Given the description of an element on the screen output the (x, y) to click on. 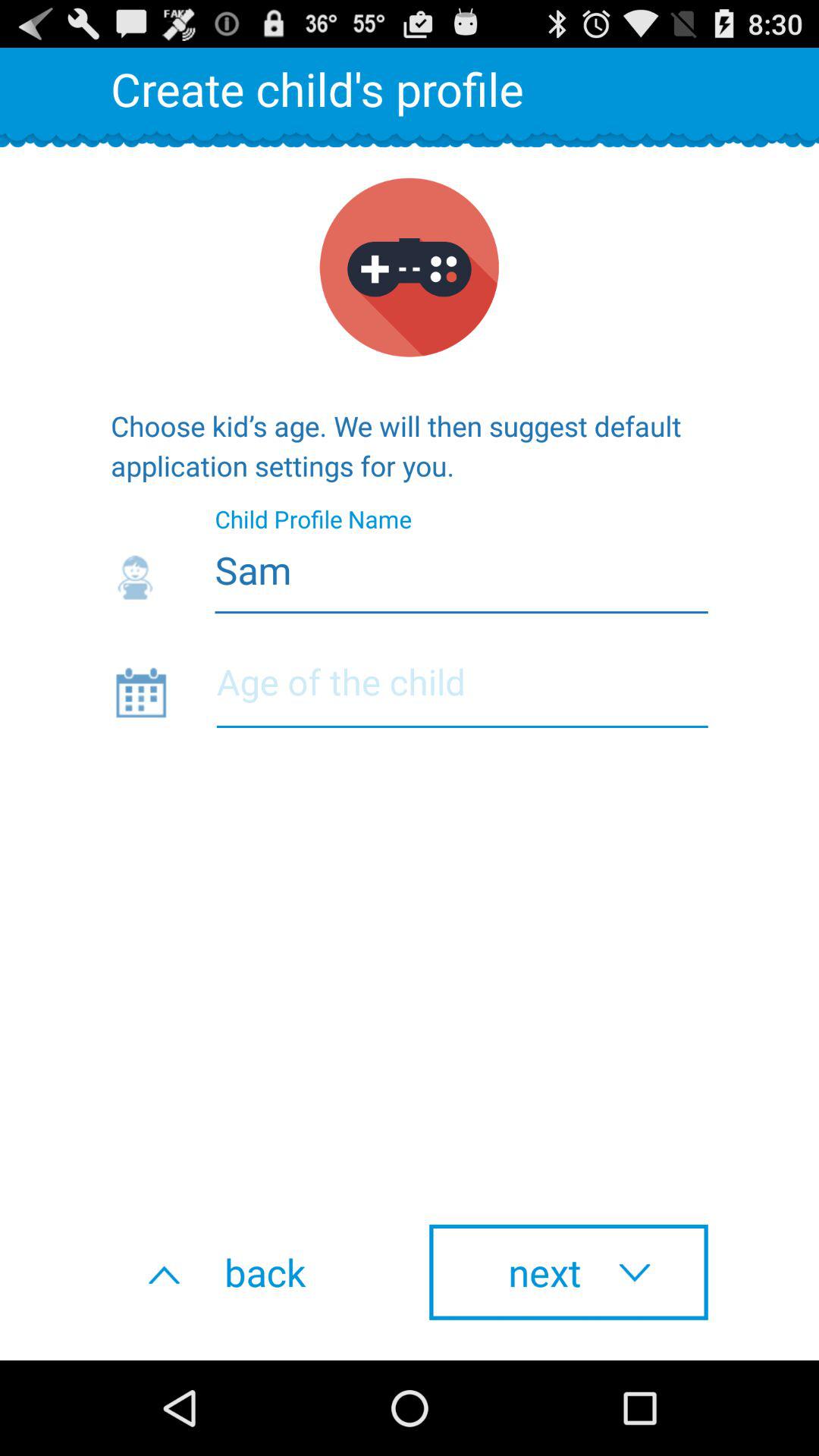
choose the sam icon (409, 565)
